Given the description of an element on the screen output the (x, y) to click on. 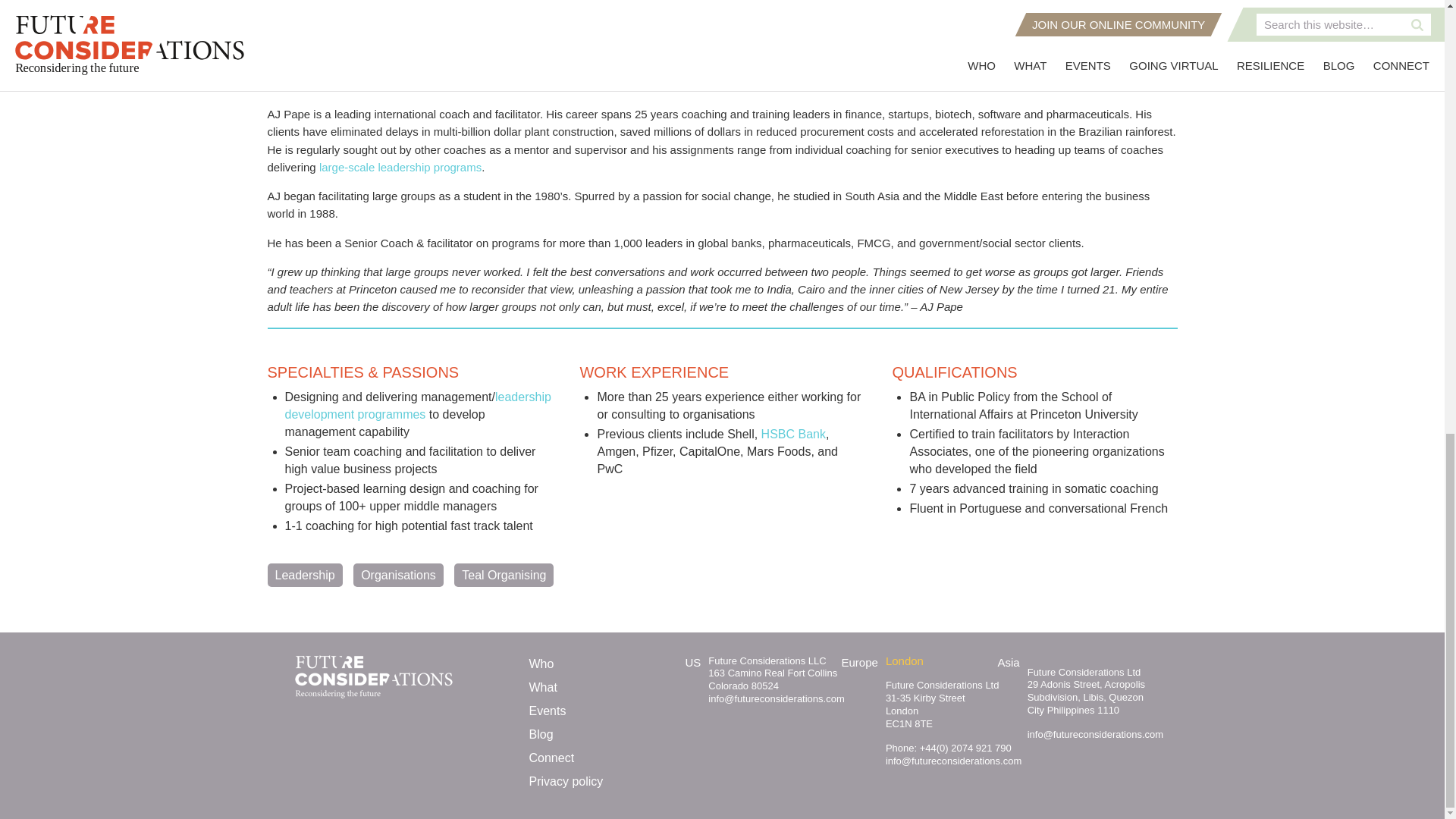
Organisations (398, 574)
Leadership (304, 574)
HSBC Bank (793, 433)
large-scale leadership programs (399, 166)
leadership development programmes (418, 404)
